Given the description of an element on the screen output the (x, y) to click on. 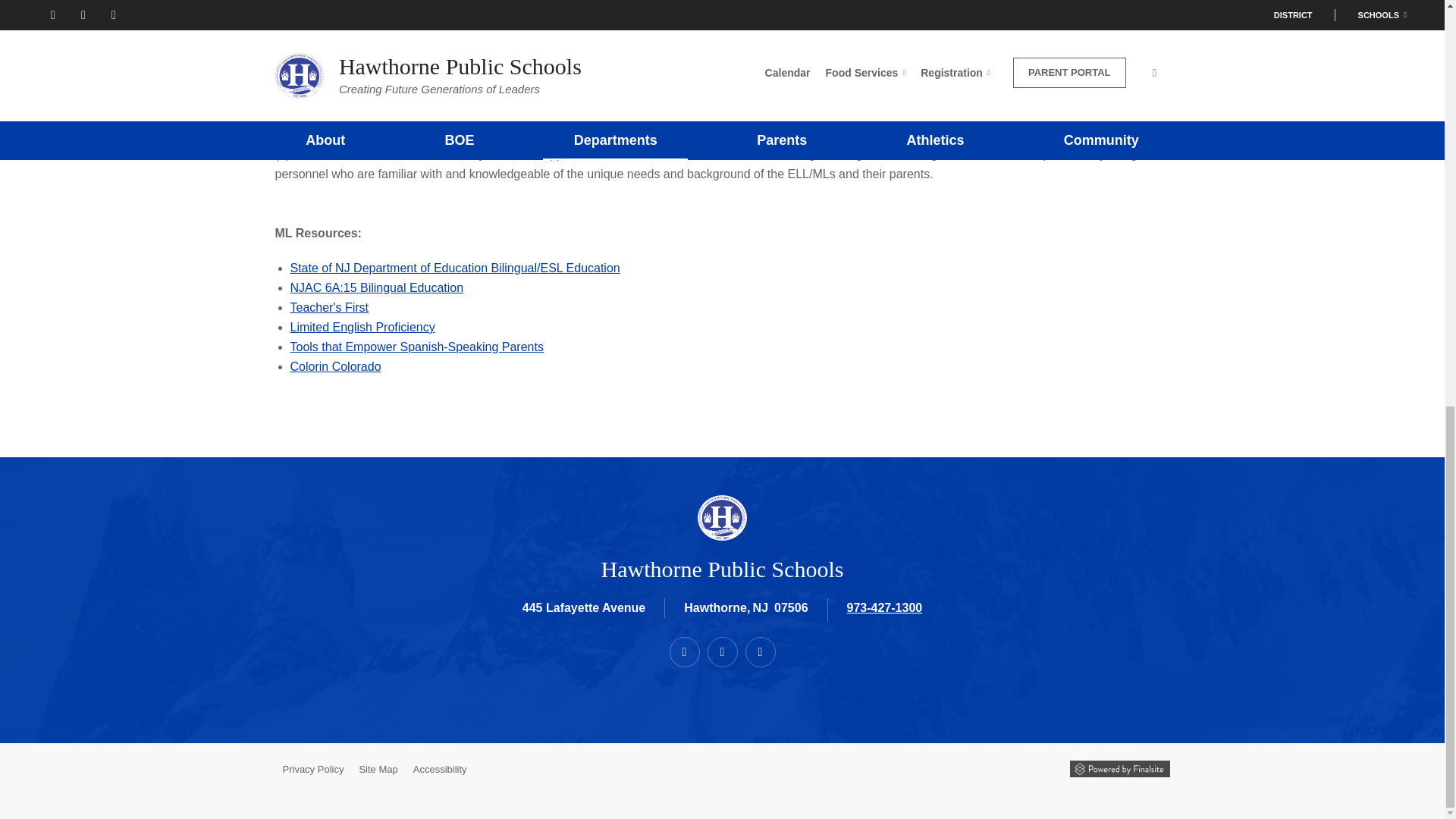
Teacher's First (328, 307)
Tools that Empower Spanish-Speaking Parents (416, 346)
Limited English Proficiency (361, 327)
NJAC 6A:15 Bilingual Education (376, 287)
Colorin Colorado link (334, 366)
Powered by Finalsite opens in a new window (1118, 768)
